Given the description of an element on the screen output the (x, y) to click on. 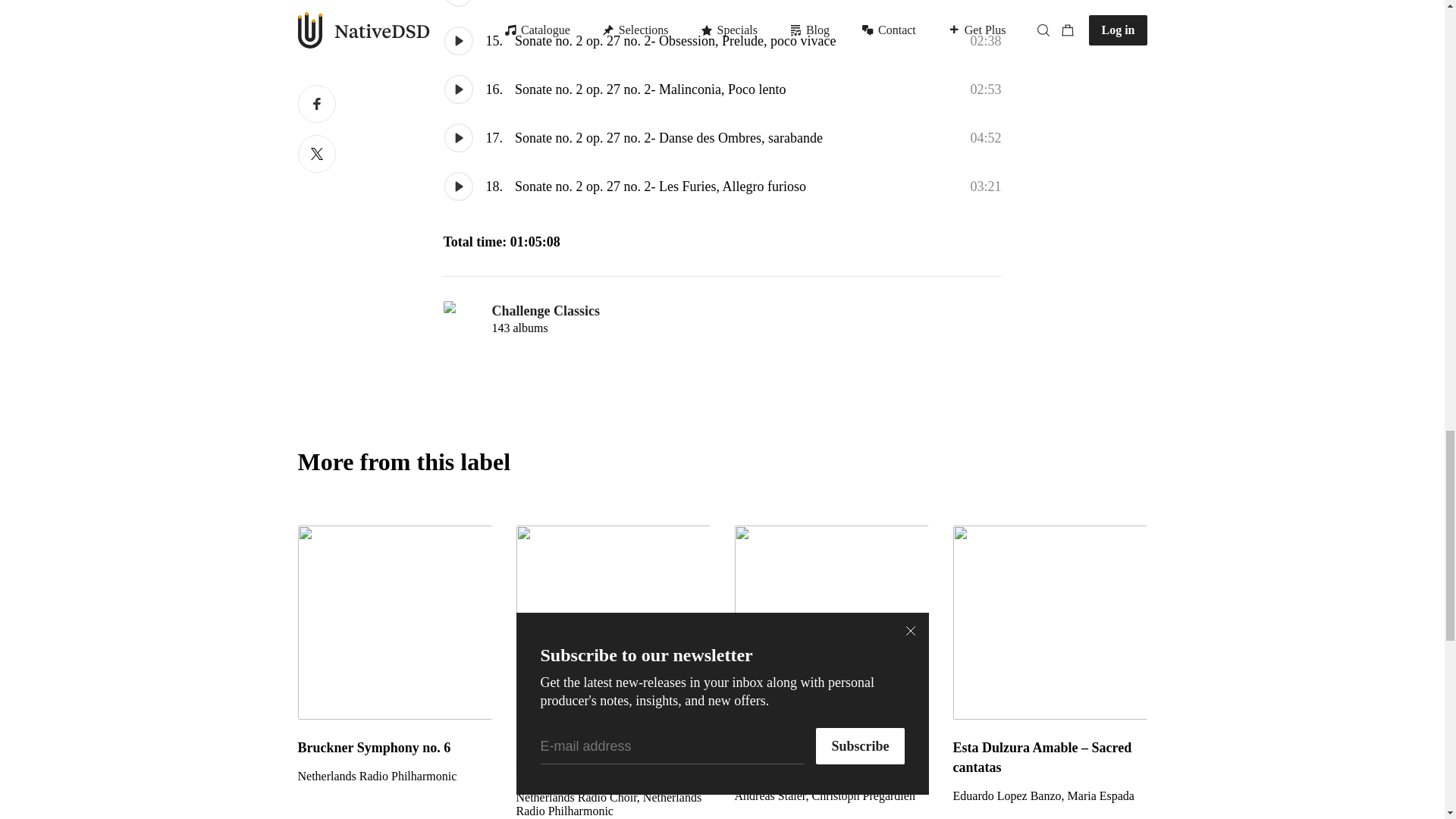
Schwanengesang and songs after Seidl (830, 622)
Parsifal-1 (612, 804)
Parsifal-1 (612, 768)
Bruckner Symphony no. 6 (394, 775)
Schwanengesang and songs after Seidl (830, 757)
Bruckner Symphony no. 6 (394, 747)
Schwanengesang and songs after Seidl (830, 796)
Bruckner Symphony no. 6 (394, 622)
Parsifal-1 (612, 622)
